Given the description of an element on the screen output the (x, y) to click on. 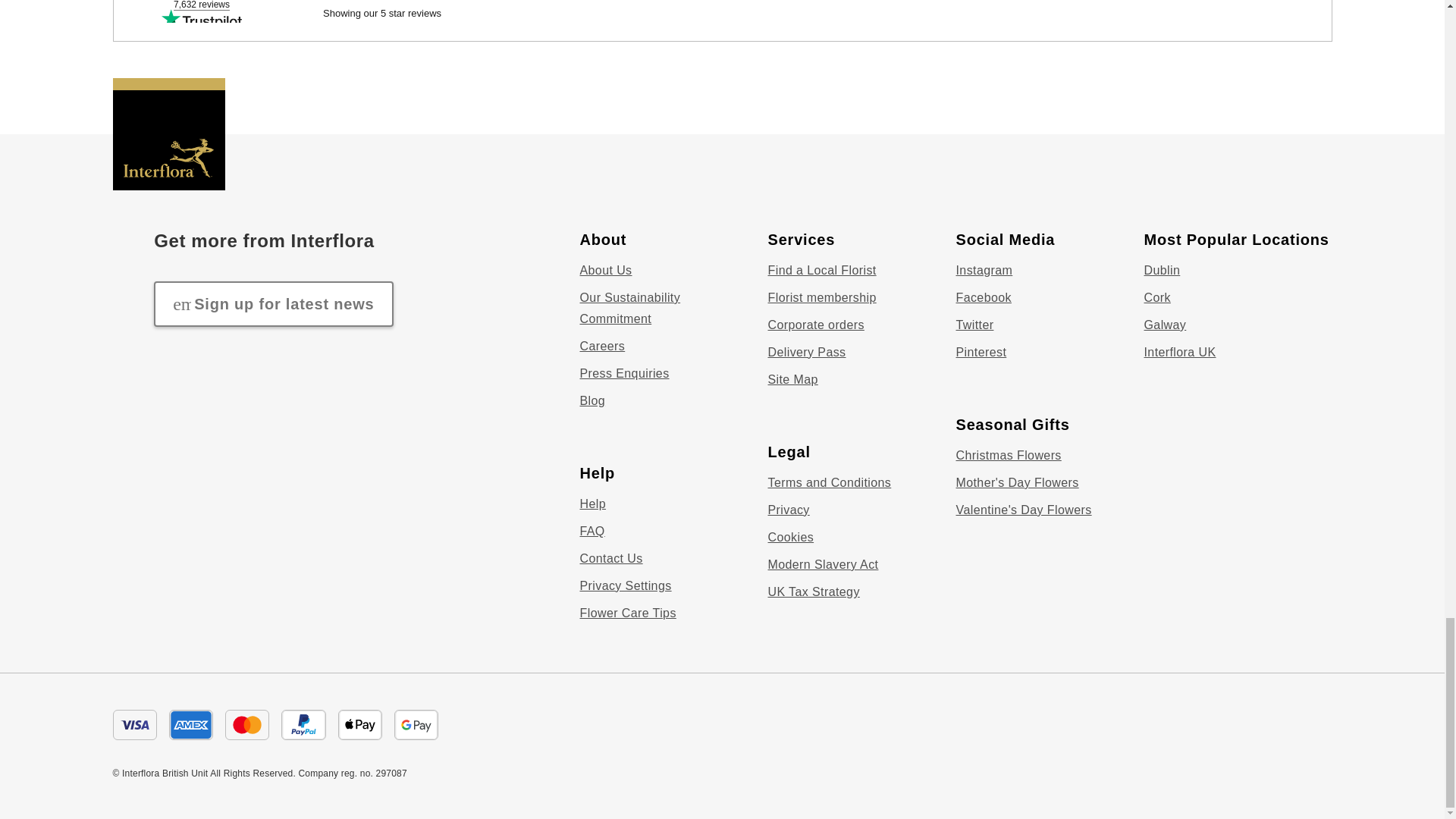
Customer reviews powered by Trustpilot (722, 11)
